Given the description of an element on the screen output the (x, y) to click on. 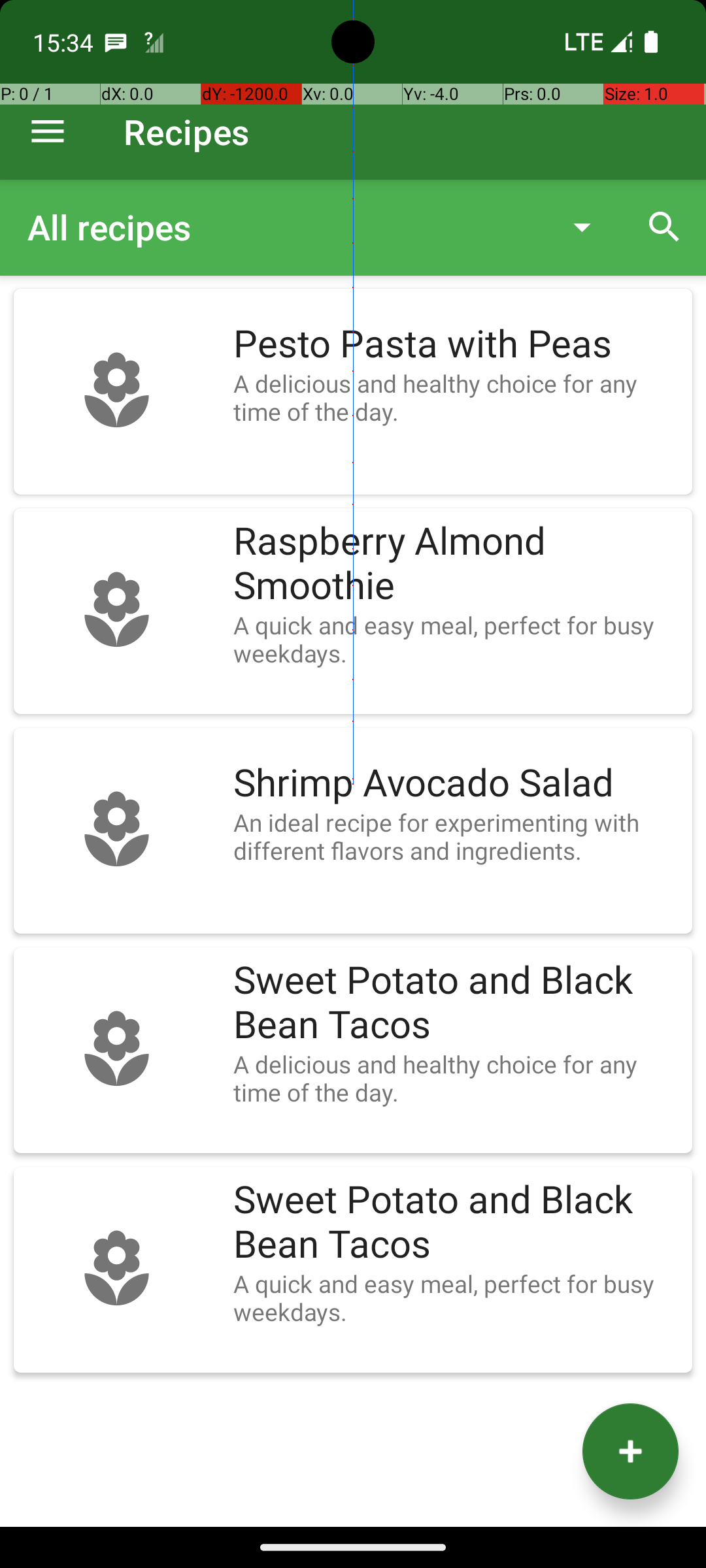
Raspberry Almond Smoothie Element type: android.widget.TextView (455, 563)
Shrimp Avocado Salad Element type: android.widget.TextView (455, 783)
Sweet Potato and Black Bean Tacos Element type: android.widget.TextView (455, 1002)
